Given the description of an element on the screen output the (x, y) to click on. 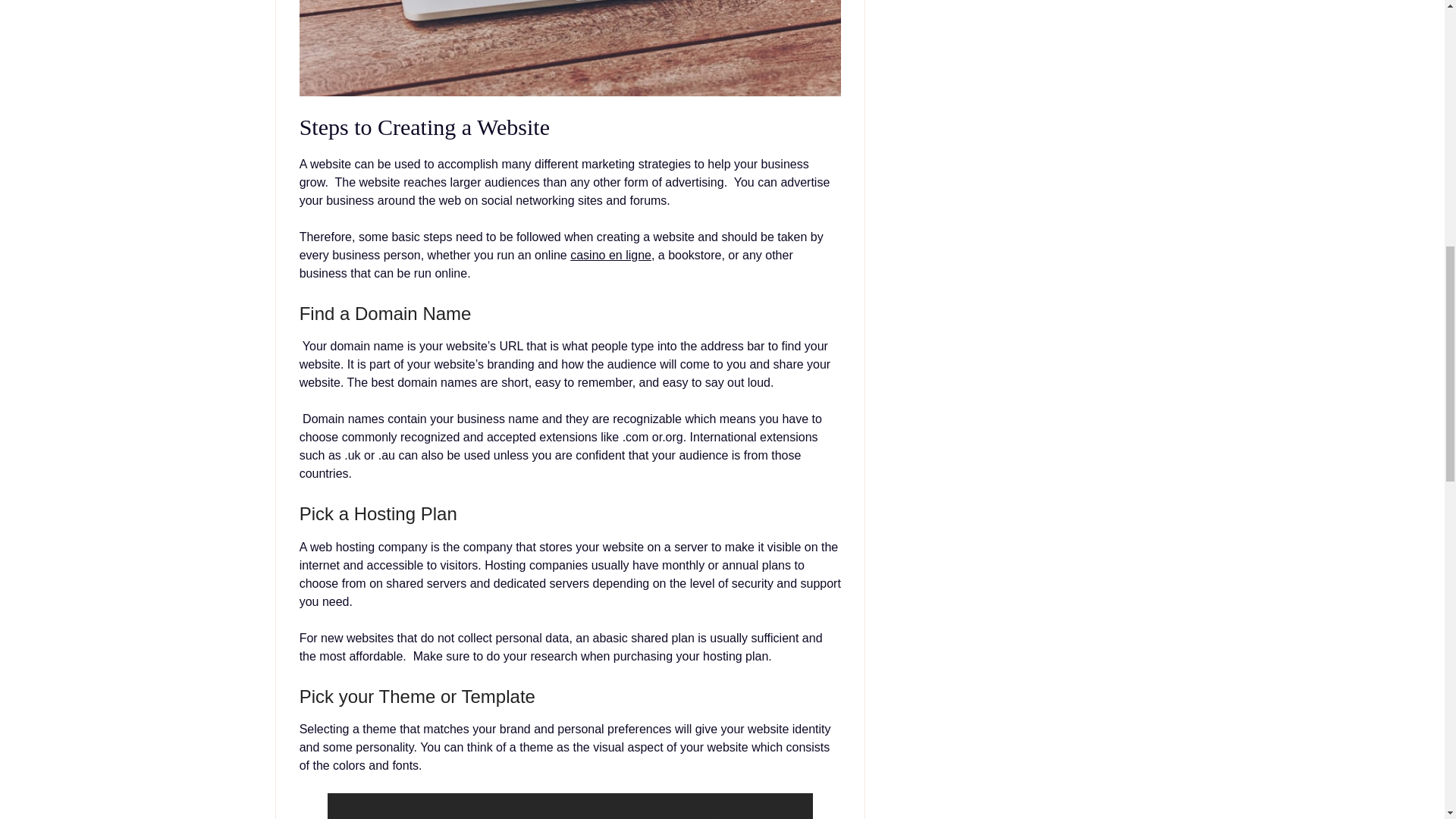
casino en ligne (610, 254)
